Given the description of an element on the screen output the (x, y) to click on. 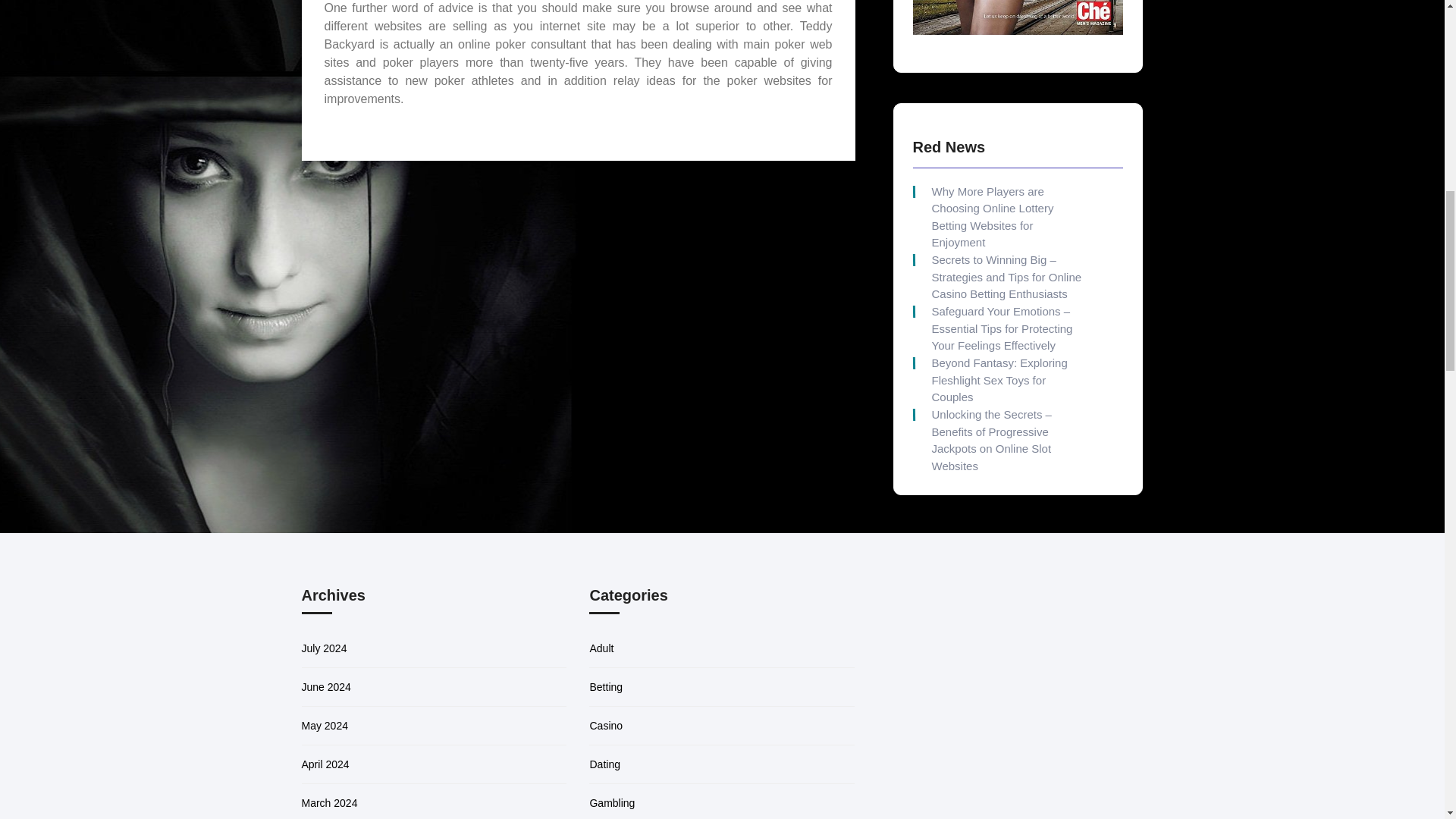
March 2024 (329, 802)
July 2024 (324, 648)
Beyond Fantasy: Exploring Fleshlight Sex Toys for Couples (1005, 380)
April 2024 (325, 764)
June 2024 (325, 686)
May 2024 (324, 725)
